Given the description of an element on the screen output the (x, y) to click on. 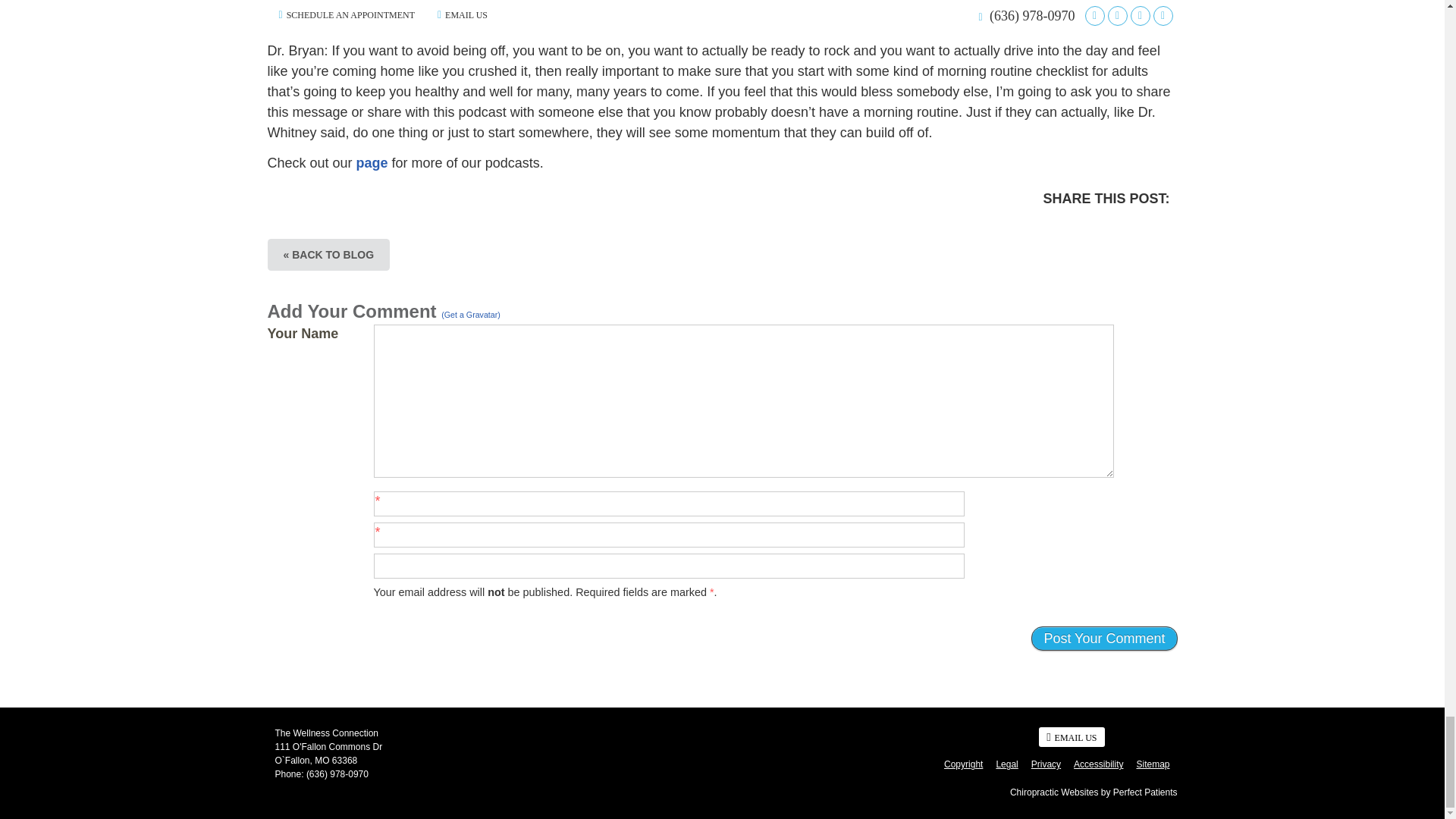
Contact (1071, 736)
Post Your Comment (1103, 638)
Your E-mail (667, 534)
Footer Links (1053, 763)
Your Name (667, 503)
